Given the description of an element on the screen output the (x, y) to click on. 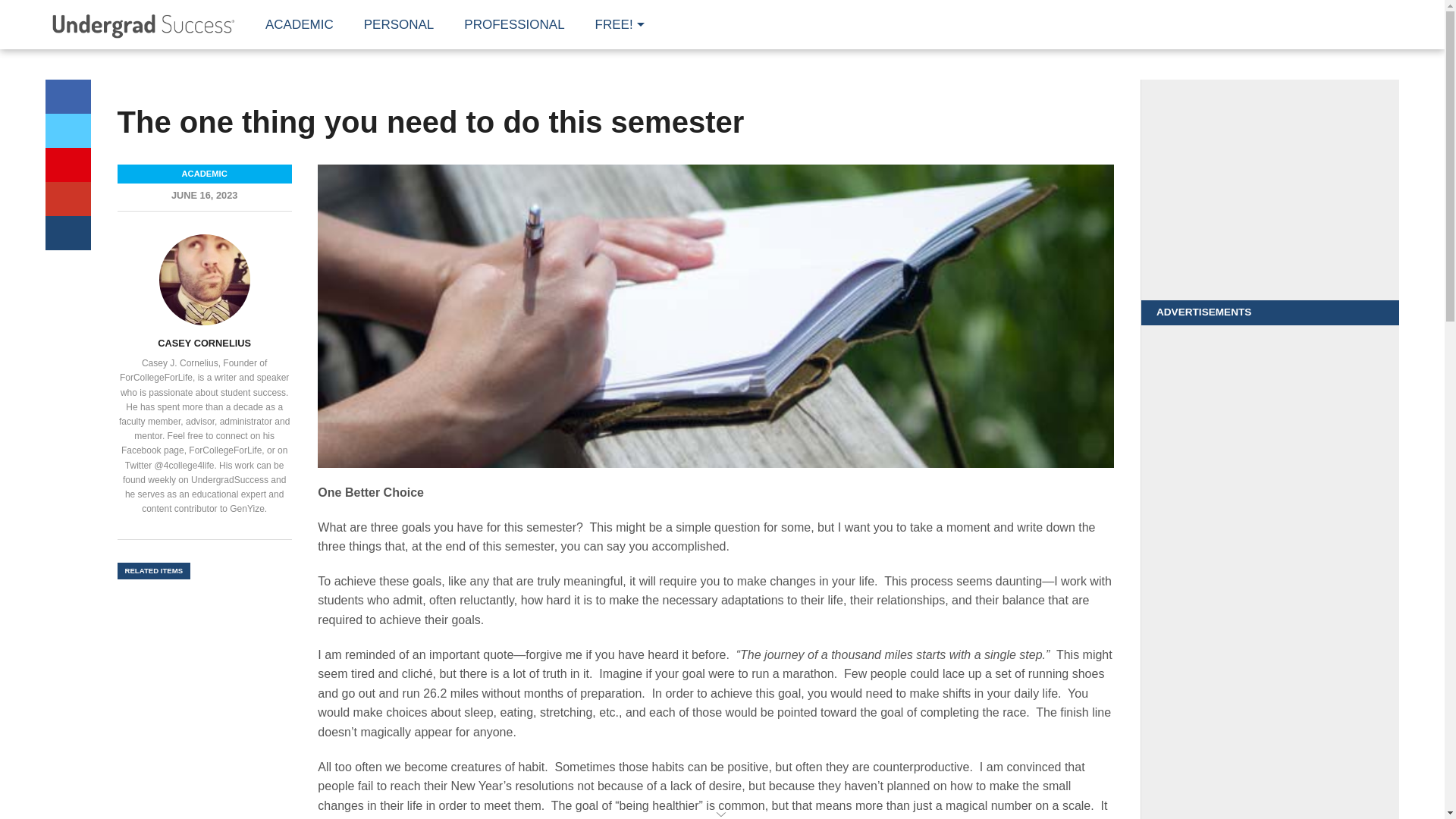
ACADEMIC (299, 24)
PERSONAL (399, 24)
Tweet This Post (67, 130)
Ad.Plus Advertising (722, 813)
Share on Facebook (67, 96)
Pin This Post (67, 164)
FREE! (615, 24)
PROFESSIONAL (513, 24)
